Given the description of an element on the screen output the (x, y) to click on. 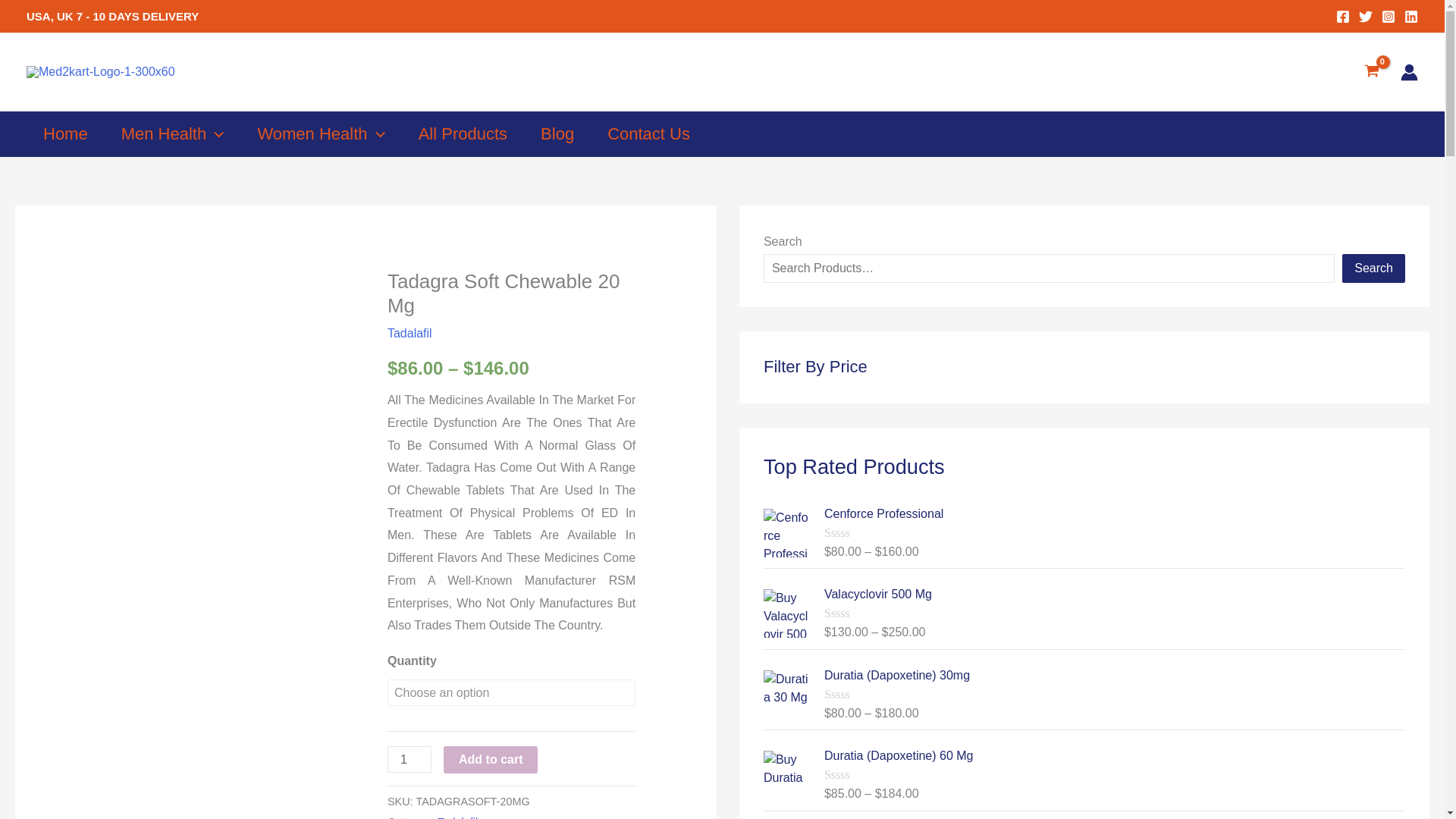
Men Health (172, 134)
Tadalafil (409, 332)
Blog (557, 134)
Women Health (320, 134)
Home (65, 134)
Add to cart (490, 759)
Contact Us (648, 134)
Tadalafil (457, 817)
1 (408, 759)
All Products (462, 134)
